Given the description of an element on the screen output the (x, y) to click on. 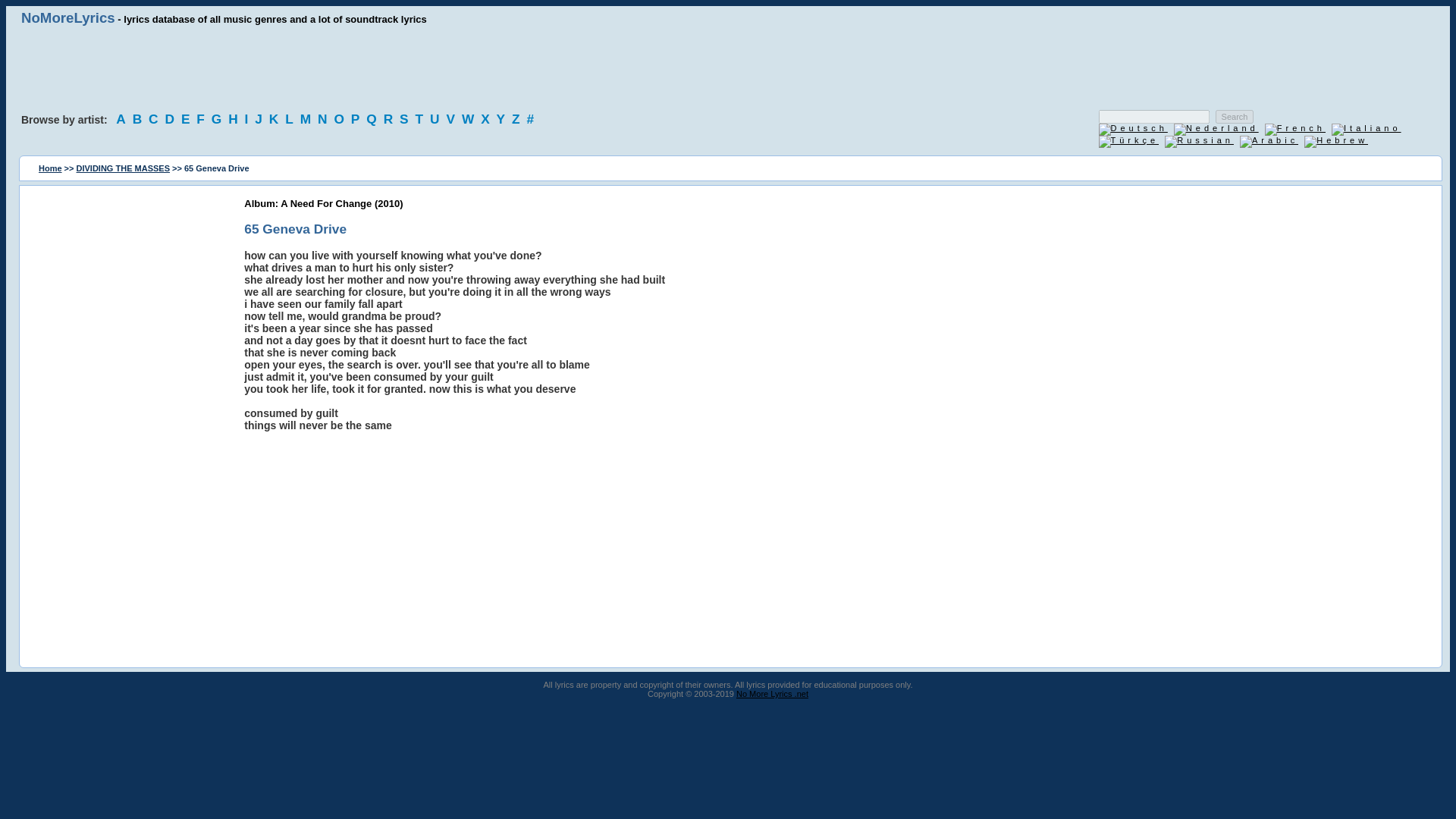
O (340, 118)
Song lyrics and soundtrack lyrics, starting with O (340, 118)
Song lyrics and soundtrack lyrics, starting with H (234, 118)
Song lyrics and soundtrack lyrics, starting with A (122, 118)
A (122, 118)
Song lyrics and soundtrack lyrics, starting with R (390, 118)
Search (1234, 116)
Song lyrics and soundtrack lyrics, starting with B (139, 118)
Song lyrics and soundtrack lyrics, starting with Q (373, 118)
Search (1234, 116)
R (390, 118)
D (170, 118)
N (324, 118)
Song lyrics and soundtrack lyrics, starting with K (275, 118)
Song lyrics and soundtrack lyrics, starting with M (306, 118)
